Given the description of an element on the screen output the (x, y) to click on. 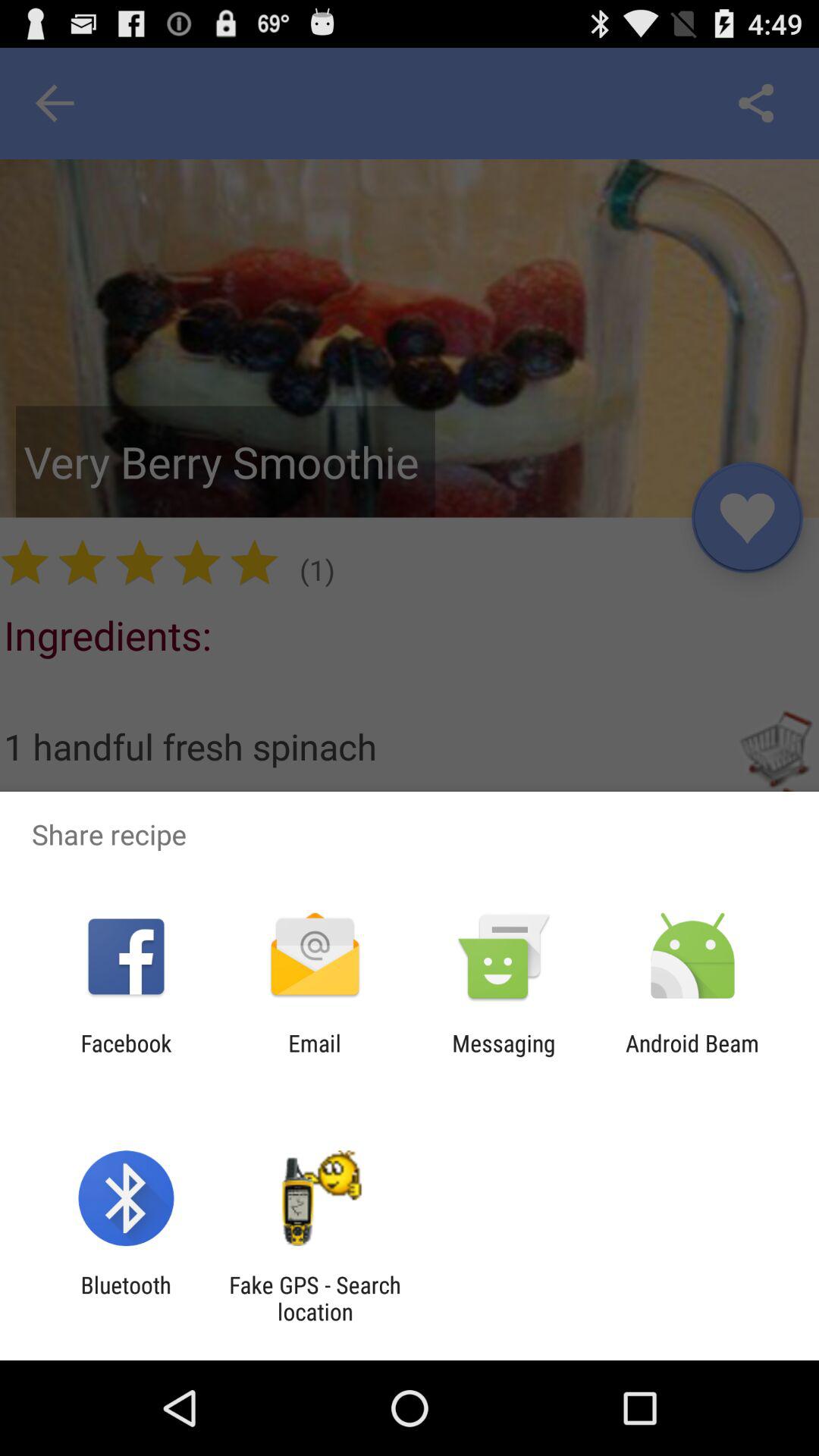
choose the app next to the messaging app (692, 1056)
